Given the description of an element on the screen output the (x, y) to click on. 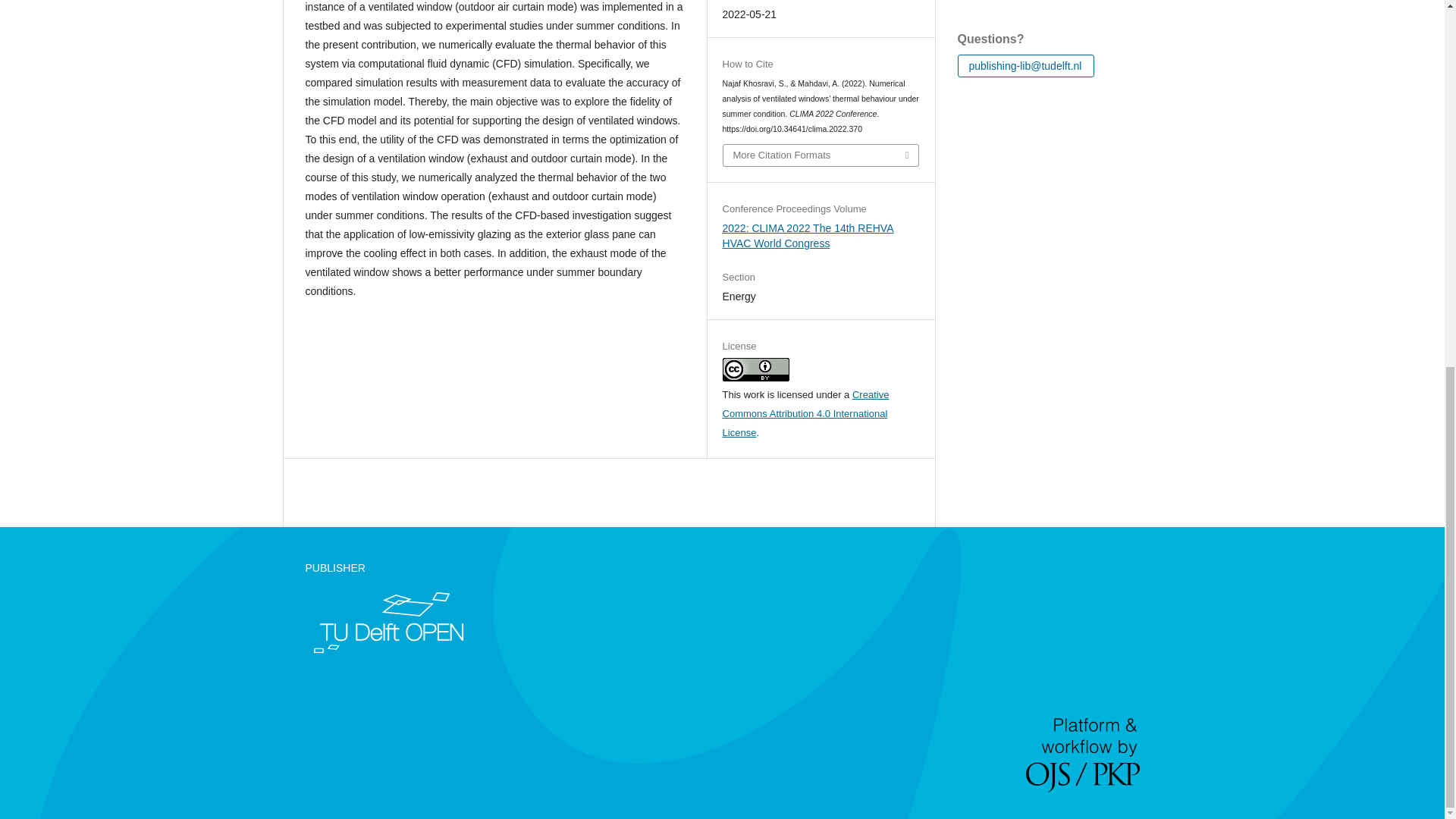
More Citation Formats (820, 155)
